Given the description of an element on the screen output the (x, y) to click on. 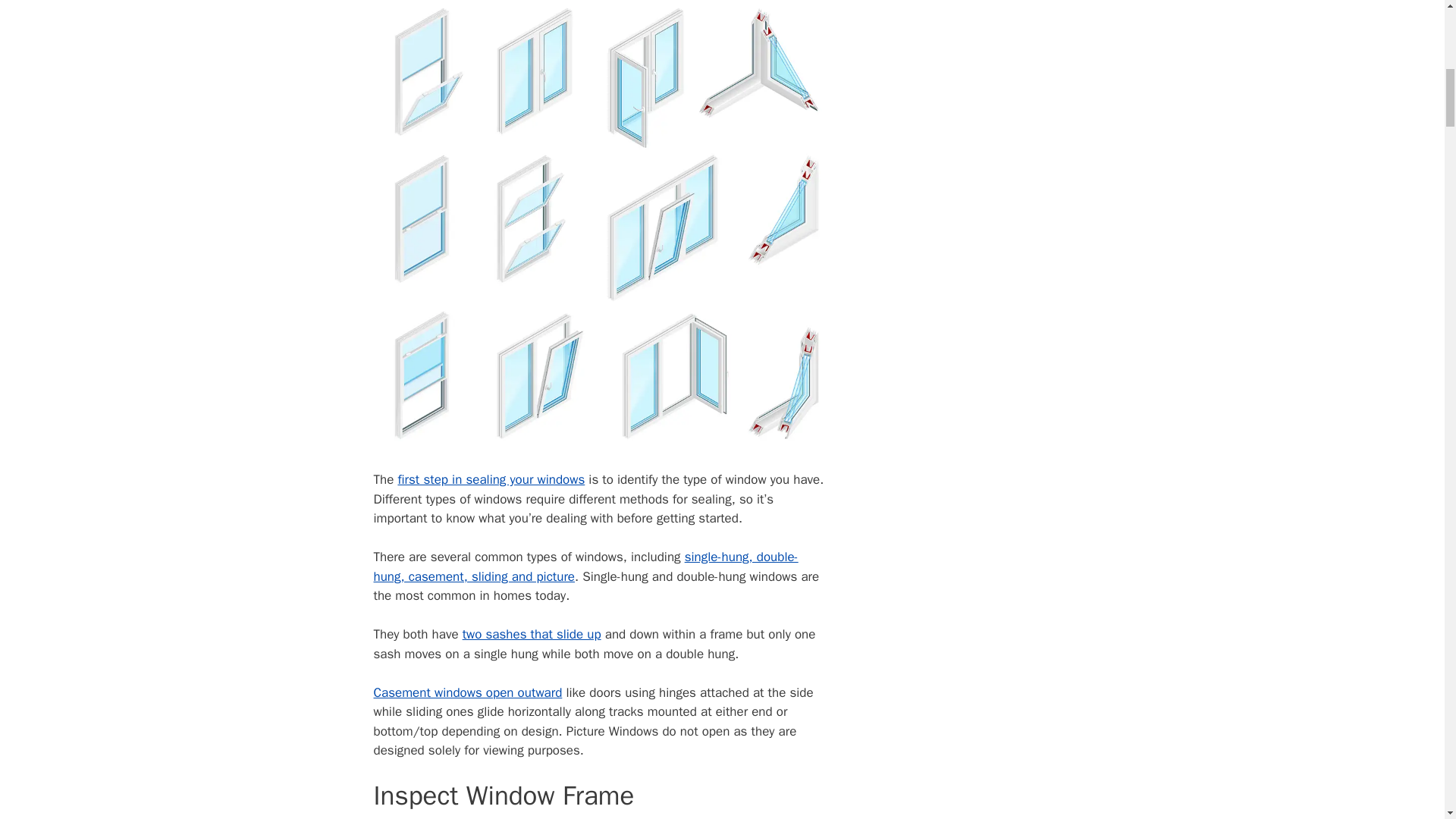
Casement windows open outward (467, 692)
two sashes that slide up (532, 634)
single-hung, double-hung, casement, sliding and picture (584, 566)
first step in sealing your windows (491, 479)
